Given the description of an element on the screen output the (x, y) to click on. 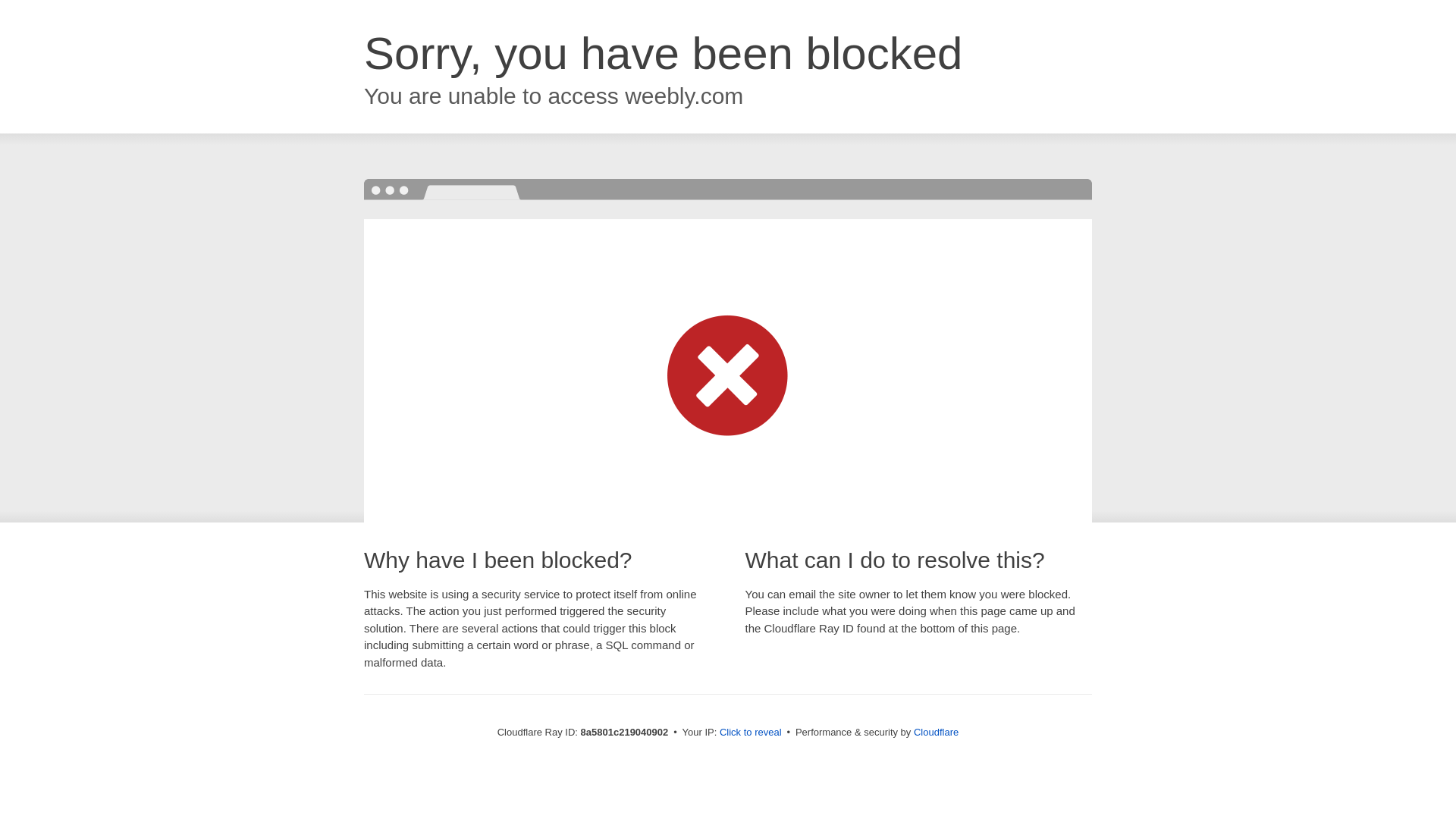
Cloudflare (936, 731)
Click to reveal (750, 732)
